Given the description of an element on the screen output the (x, y) to click on. 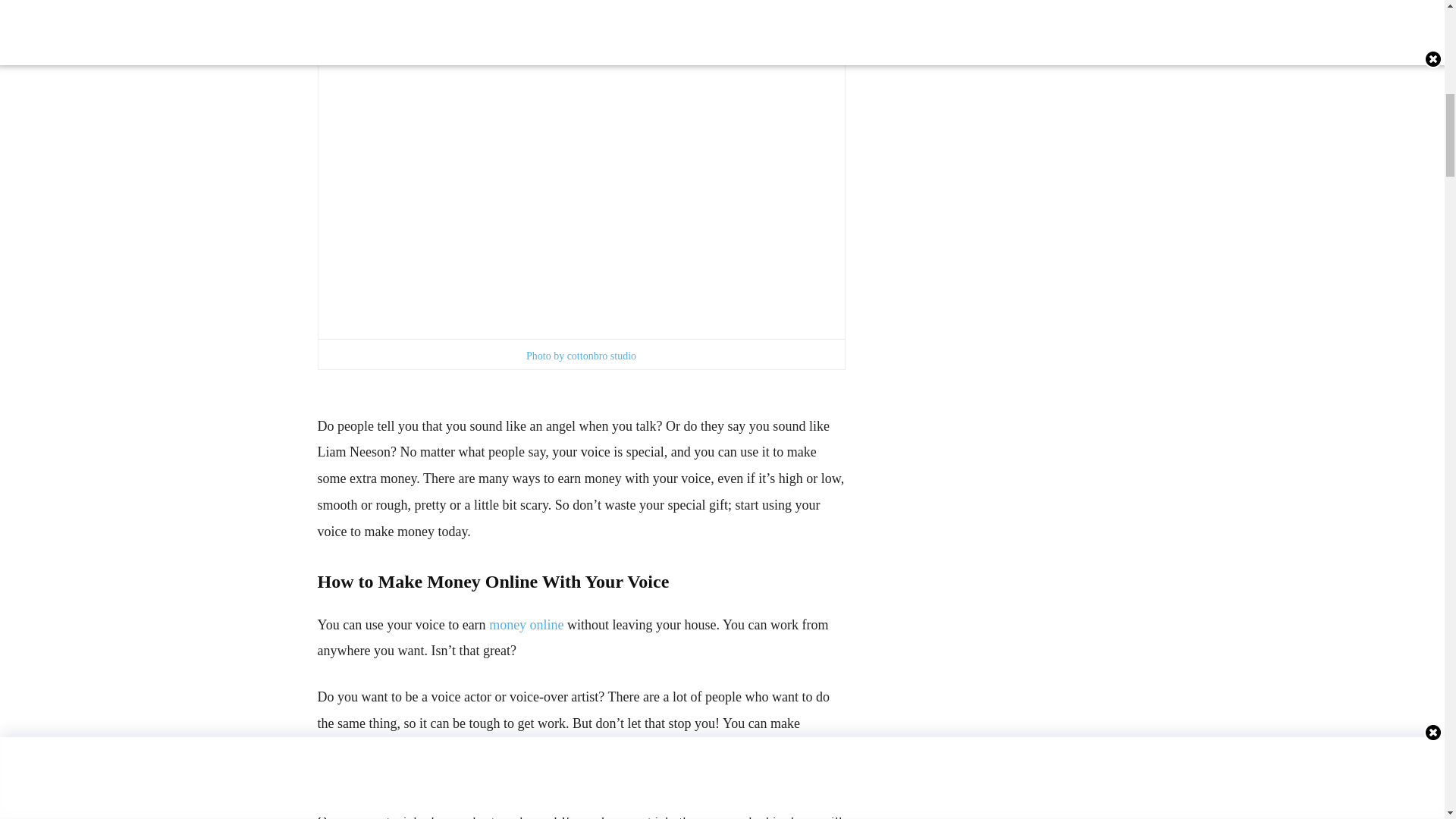
Photo by cottonbro studio (580, 355)
money online (526, 624)
